Given the description of an element on the screen output the (x, y) to click on. 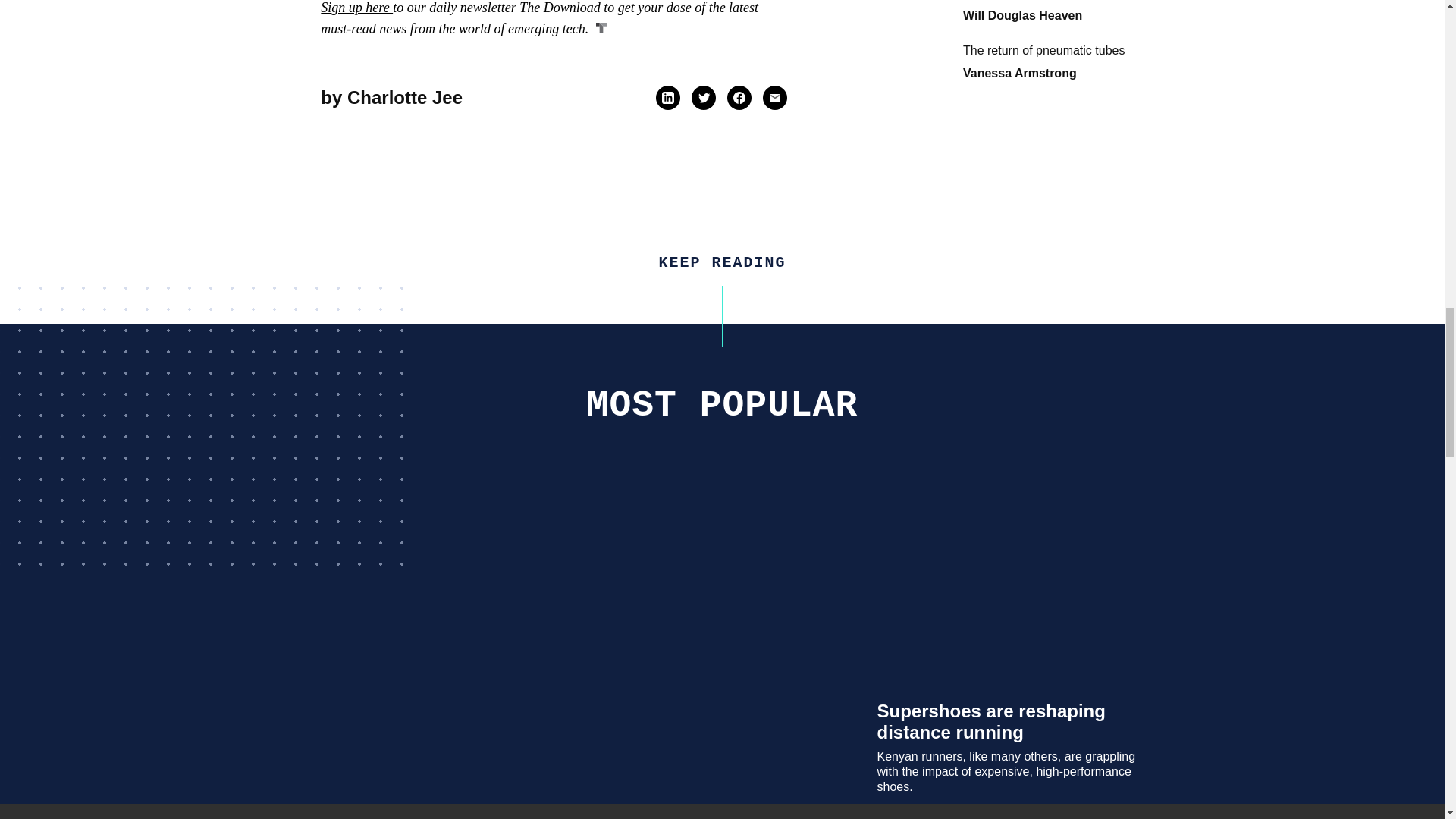
Charlotte Jee (405, 96)
Sign up here  (356, 7)
Share story on email (774, 97)
Share story on twitter (703, 97)
Share story on facebook (739, 97)
Share story on linkedin (668, 97)
